Given the description of an element on the screen output the (x, y) to click on. 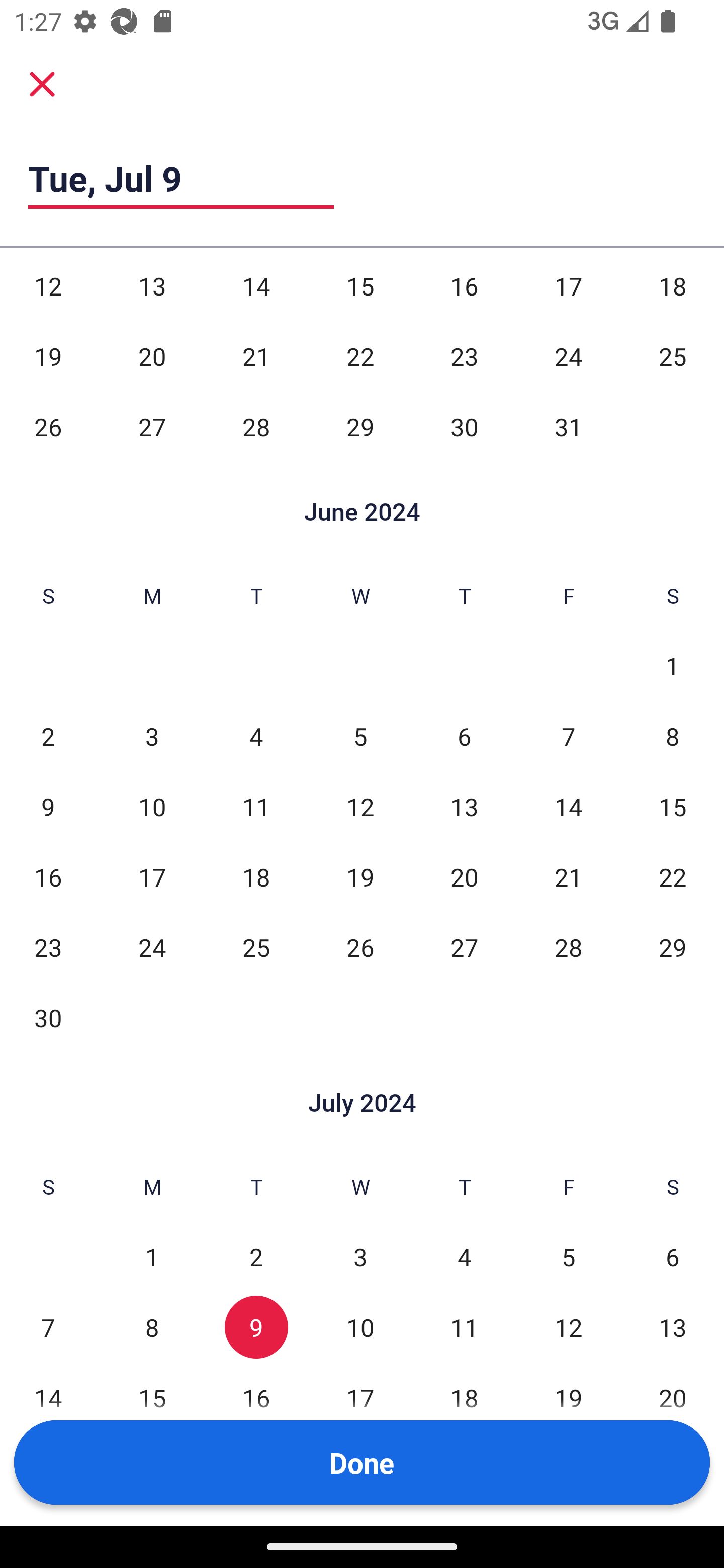
Cancel (42, 84)
Tue, Jul 9 (180, 178)
12 Sun, May 12, Not Selected (48, 285)
13 Mon, May 13, Not Selected (152, 285)
14 Tue, May 14, Not Selected (256, 285)
15 Wed, May 15, Not Selected (360, 285)
16 Thu, May 16, Not Selected (464, 285)
17 Fri, May 17, Not Selected (568, 285)
18 Sat, May 18, Not Selected (672, 285)
19 Sun, May 19, Not Selected (48, 356)
20 Mon, May 20, Not Selected (152, 356)
21 Tue, May 21, Not Selected (256, 356)
22 Wed, May 22, Not Selected (360, 356)
23 Thu, May 23, Not Selected (464, 356)
24 Fri, May 24, Not Selected (568, 356)
25 Sat, May 25, Not Selected (672, 356)
26 Sun, May 26, Not Selected (48, 427)
27 Mon, May 27, Not Selected (152, 427)
28 Tue, May 28, Not Selected (256, 427)
29 Wed, May 29, Not Selected (360, 427)
30 Thu, May 30, Not Selected (464, 427)
31 Fri, May 31, Not Selected (568, 427)
1 Sat, Jun 1, Not Selected (672, 665)
2 Sun, Jun 2, Not Selected (48, 735)
3 Mon, Jun 3, Not Selected (152, 735)
4 Tue, Jun 4, Not Selected (256, 735)
5 Wed, Jun 5, Not Selected (360, 735)
6 Thu, Jun 6, Not Selected (464, 735)
7 Fri, Jun 7, Not Selected (568, 735)
8 Sat, Jun 8, Not Selected (672, 735)
9 Sun, Jun 9, Not Selected (48, 806)
10 Mon, Jun 10, Not Selected (152, 806)
11 Tue, Jun 11, Not Selected (256, 806)
12 Wed, Jun 12, Not Selected (360, 806)
13 Thu, Jun 13, Not Selected (464, 806)
14 Fri, Jun 14, Not Selected (568, 806)
15 Sat, Jun 15, Not Selected (672, 806)
16 Sun, Jun 16, Not Selected (48, 877)
17 Mon, Jun 17, Not Selected (152, 877)
18 Tue, Jun 18, Not Selected (256, 877)
19 Wed, Jun 19, Not Selected (360, 877)
20 Thu, Jun 20, Not Selected (464, 877)
21 Fri, Jun 21, Not Selected (568, 877)
22 Sat, Jun 22, Not Selected (672, 877)
23 Sun, Jun 23, Not Selected (48, 947)
24 Mon, Jun 24, Not Selected (152, 947)
25 Tue, Jun 25, Not Selected (256, 947)
26 Wed, Jun 26, Not Selected (360, 947)
27 Thu, Jun 27, Not Selected (464, 947)
28 Fri, Jun 28, Not Selected (568, 947)
29 Sat, Jun 29, Not Selected (672, 947)
30 Sun, Jun 30, Not Selected (48, 1017)
1 Mon, Jul 1, Not Selected (152, 1256)
2 Tue, Jul 2, Not Selected (256, 1256)
3 Wed, Jul 3, Not Selected (360, 1256)
4 Thu, Jul 4, Not Selected (464, 1256)
5 Fri, Jul 5, Not Selected (568, 1256)
6 Sat, Jul 6, Not Selected (672, 1256)
7 Sun, Jul 7, Not Selected (48, 1327)
8 Mon, Jul 8, Not Selected (152, 1327)
9 Tue, Jul 9, Selected (256, 1327)
10 Wed, Jul 10, Not Selected (360, 1327)
11 Thu, Jul 11, Not Selected (464, 1327)
12 Fri, Jul 12, Not Selected (568, 1327)
13 Sat, Jul 13, Not Selected (672, 1327)
14 Sun, Jul 14, Not Selected (48, 1397)
15 Mon, Jul 15, Not Selected (152, 1397)
16 Tue, Jul 16, Not Selected (256, 1397)
17 Wed, Jul 17, Not Selected (360, 1397)
18 Thu, Jul 18, Not Selected (464, 1397)
19 Fri, Jul 19, Not Selected (568, 1397)
20 Sat, Jul 20, Not Selected (672, 1397)
Done Button Done (361, 1462)
